Given the description of an element on the screen output the (x, y) to click on. 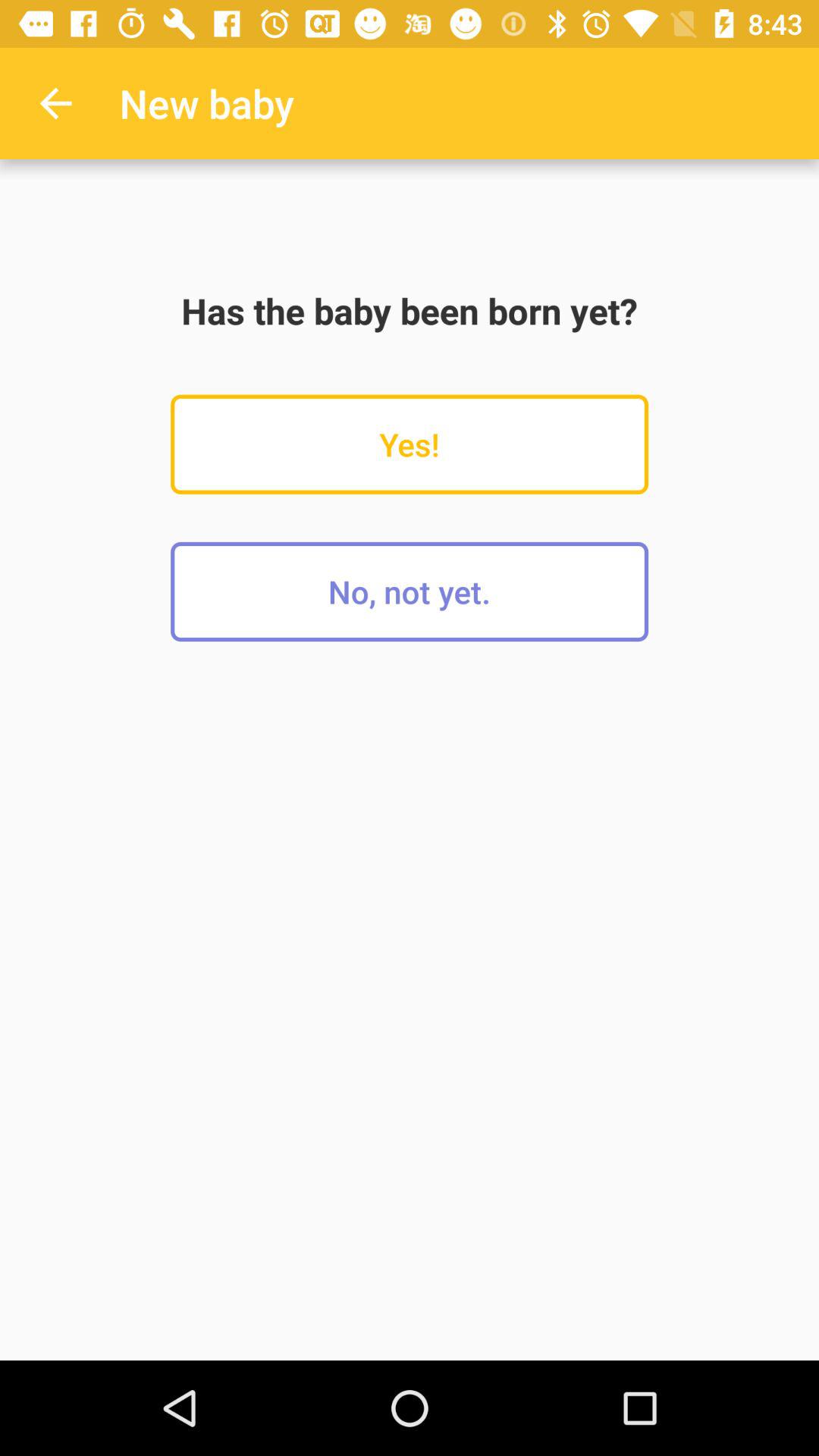
press the icon next to the new baby icon (55, 103)
